Given the description of an element on the screen output the (x, y) to click on. 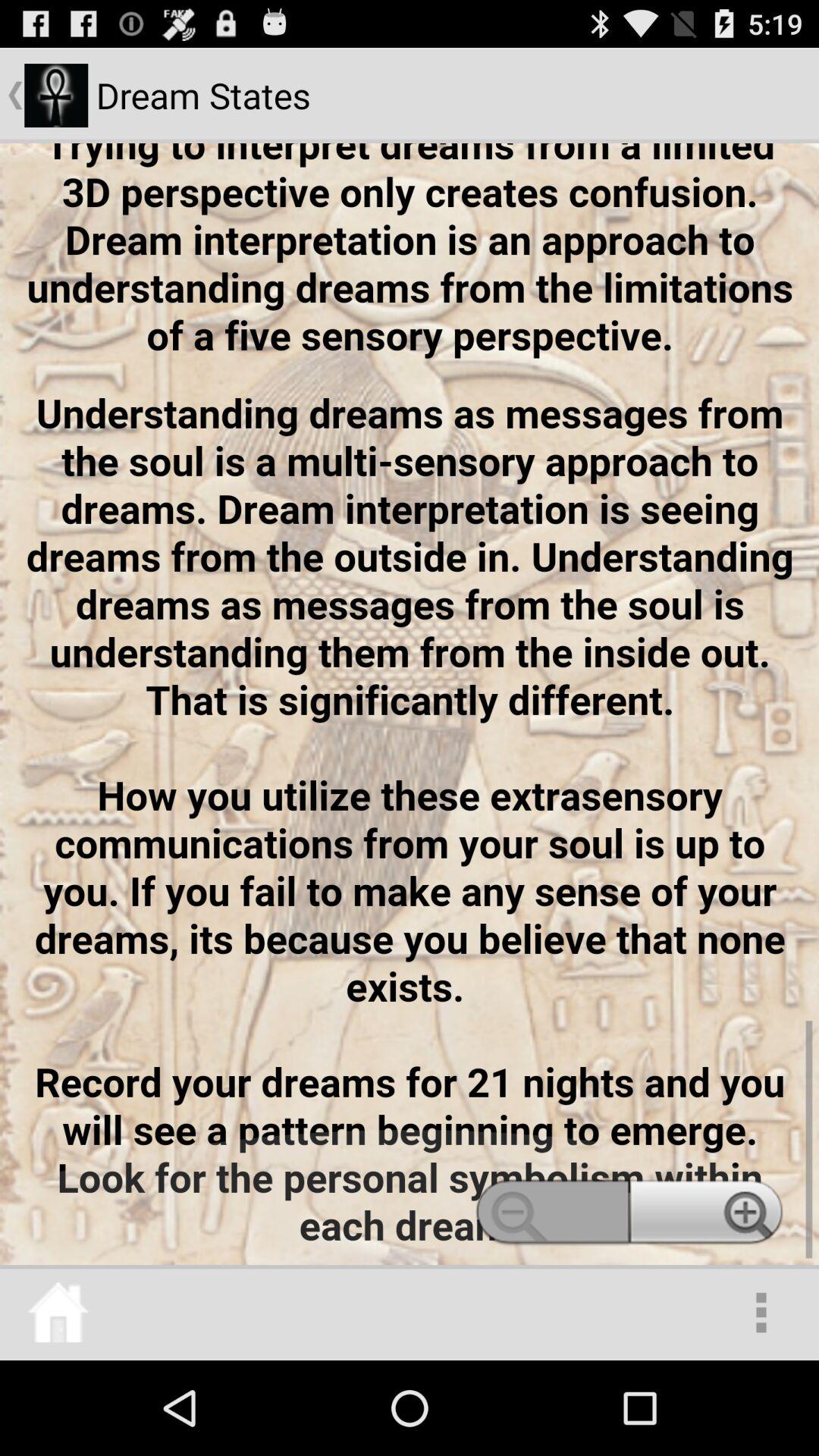
choose item at the bottom left corner (58, 1312)
